Given the description of an element on the screen output the (x, y) to click on. 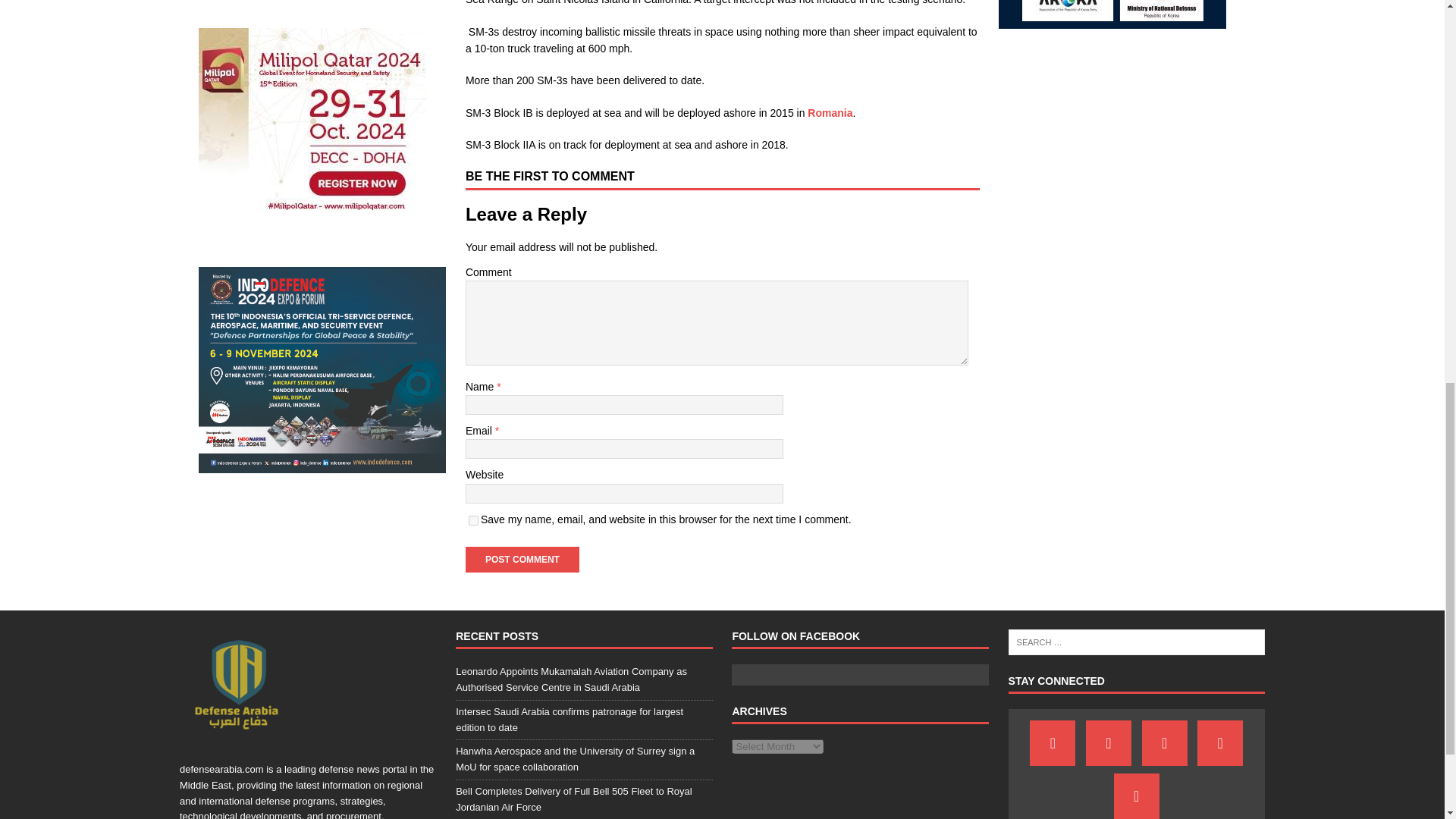
yes (473, 520)
Post Comment (522, 559)
